Given the description of an element on the screen output the (x, y) to click on. 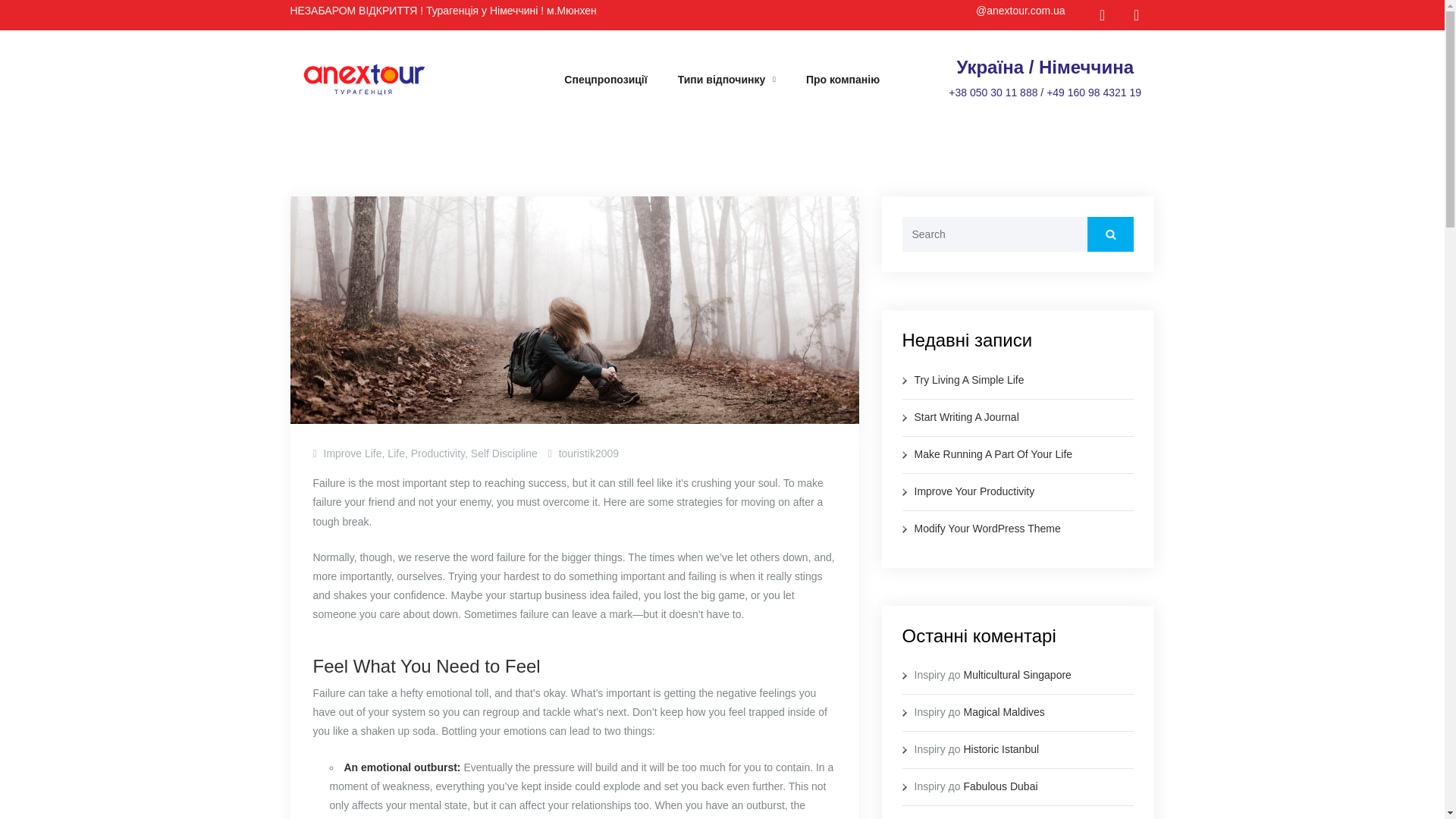
touristik2009 (588, 453)
Life (395, 453)
Improve Life (352, 453)
Go (1110, 234)
Go (1110, 234)
Self Discipline (503, 453)
Productivity (437, 453)
